Given the description of an element on the screen output the (x, y) to click on. 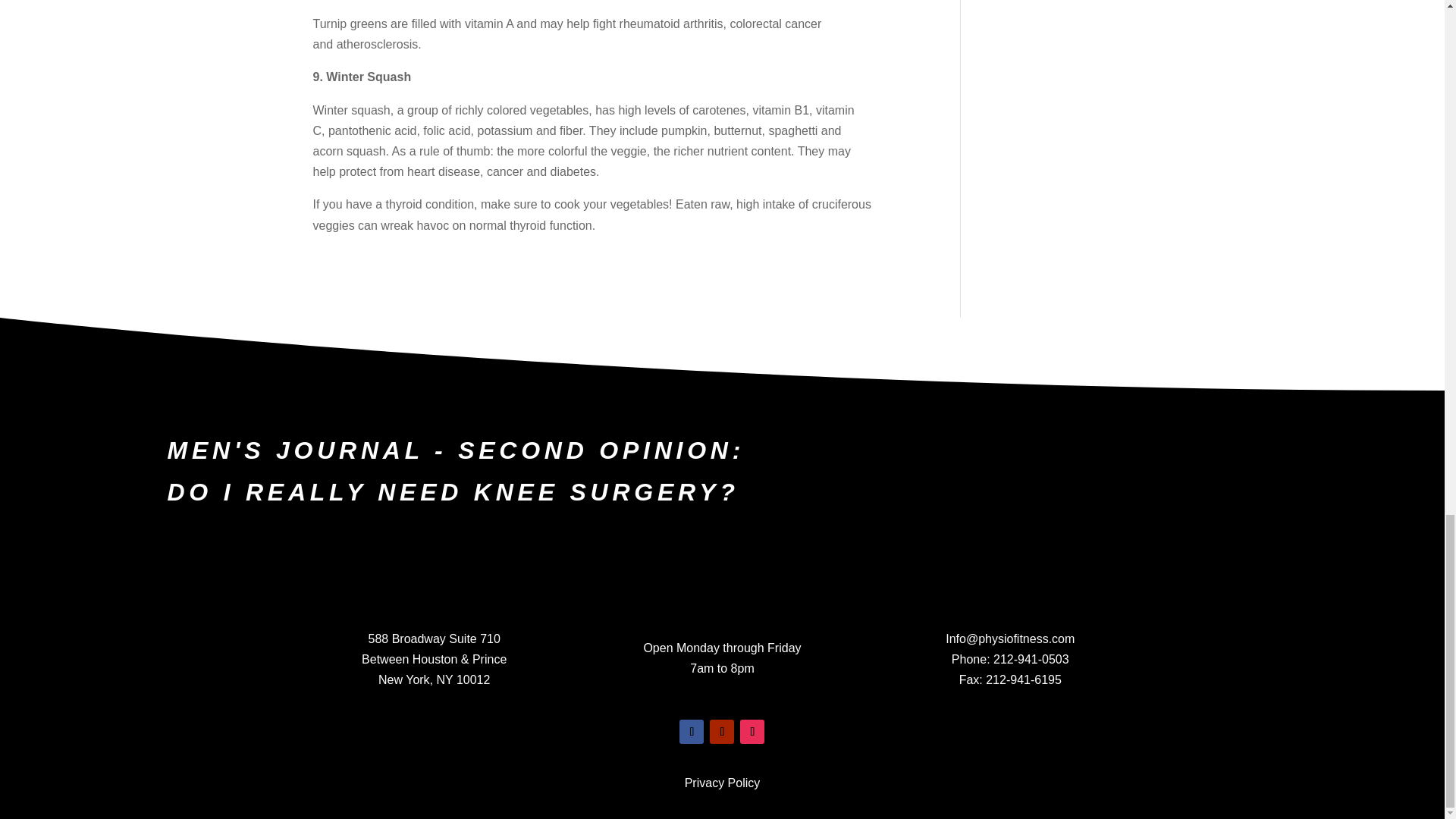
Follow on Facebook (691, 731)
Follow on Youtube (721, 731)
Follow on Instagram (751, 731)
